Given the description of an element on the screen output the (x, y) to click on. 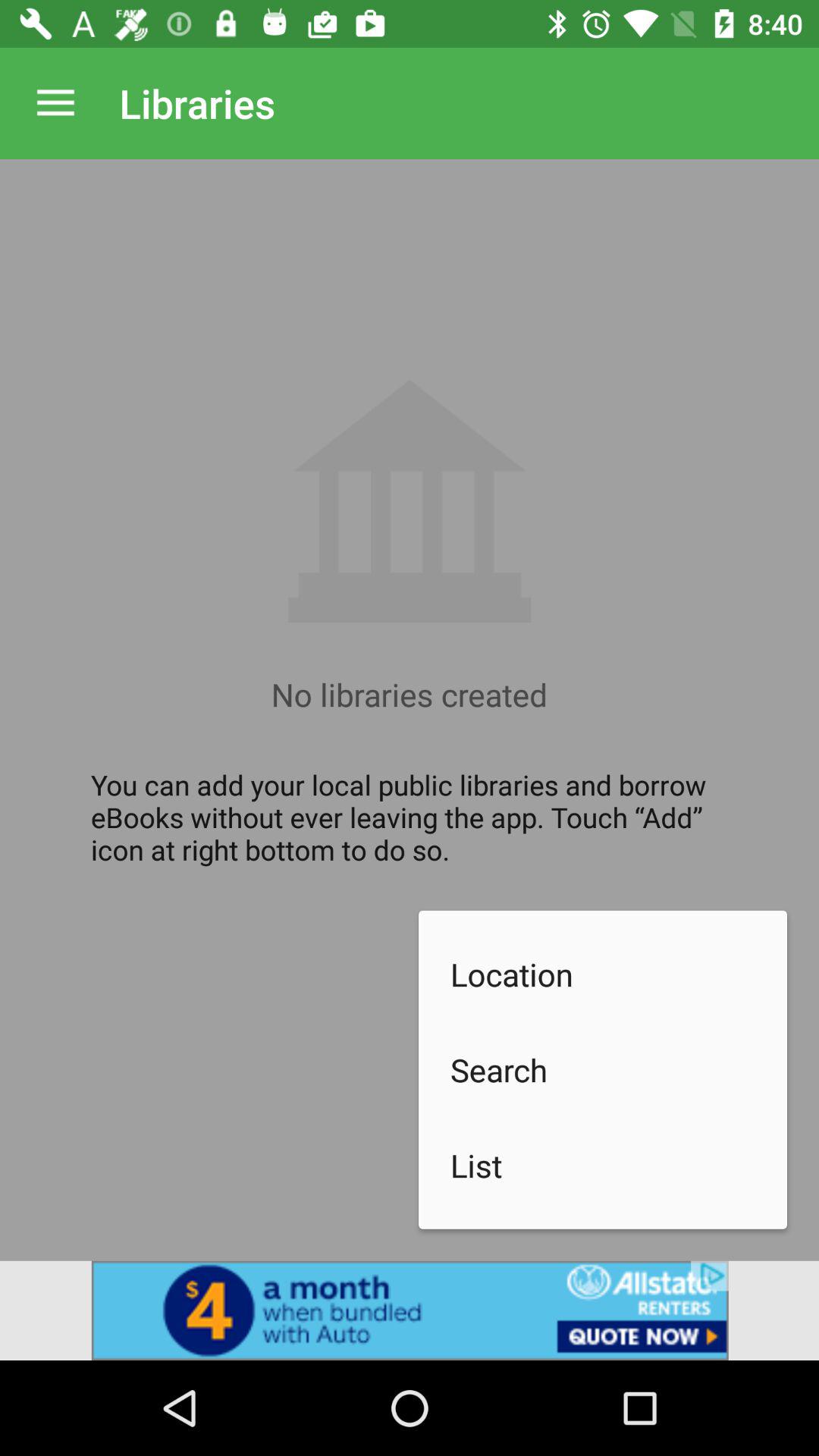
advertisement area (409, 1310)
